Given the description of an element on the screen output the (x, y) to click on. 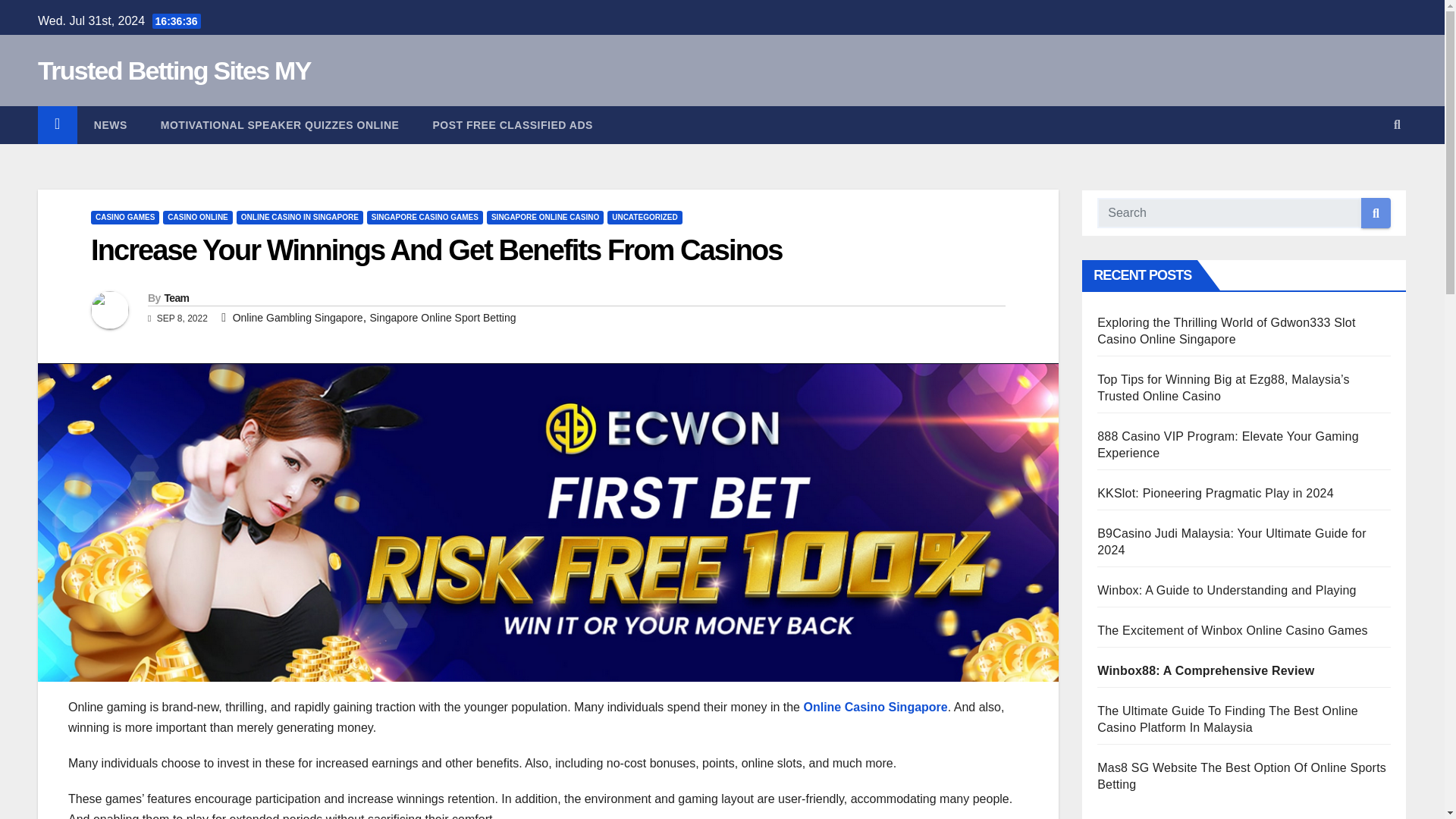
UNCATEGORIZED (644, 217)
Increase Your Winnings And Get Benefits From Casinos (436, 250)
Trusted Betting Sites MY (174, 70)
CASINO ONLINE (197, 217)
CASINO GAMES (124, 217)
Online Gambling Singapore (297, 317)
Motivational Speaker Quizzes Online (280, 125)
POST FREE CLASSIFIED ADS (511, 125)
NEWS (110, 125)
Team (176, 297)
ONLINE CASINO IN SINGAPORE (298, 217)
Post Free Classified Ads (511, 125)
Singapore Online Sport Betting (442, 317)
SINGAPORE CASINO GAMES (424, 217)
